Given the description of an element on the screen output the (x, y) to click on. 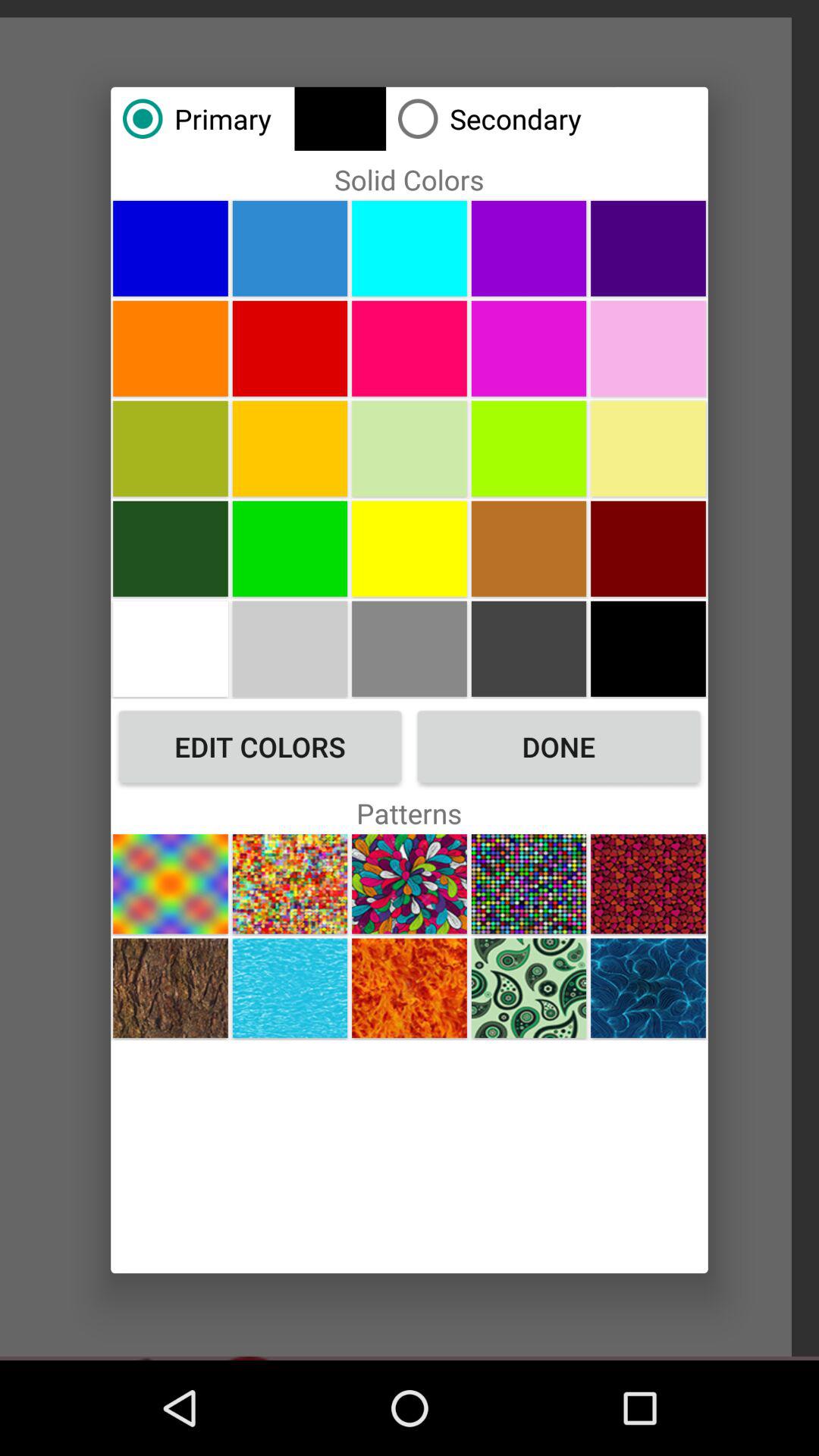
select color purple (528, 248)
